Given the description of an element on the screen output the (x, y) to click on. 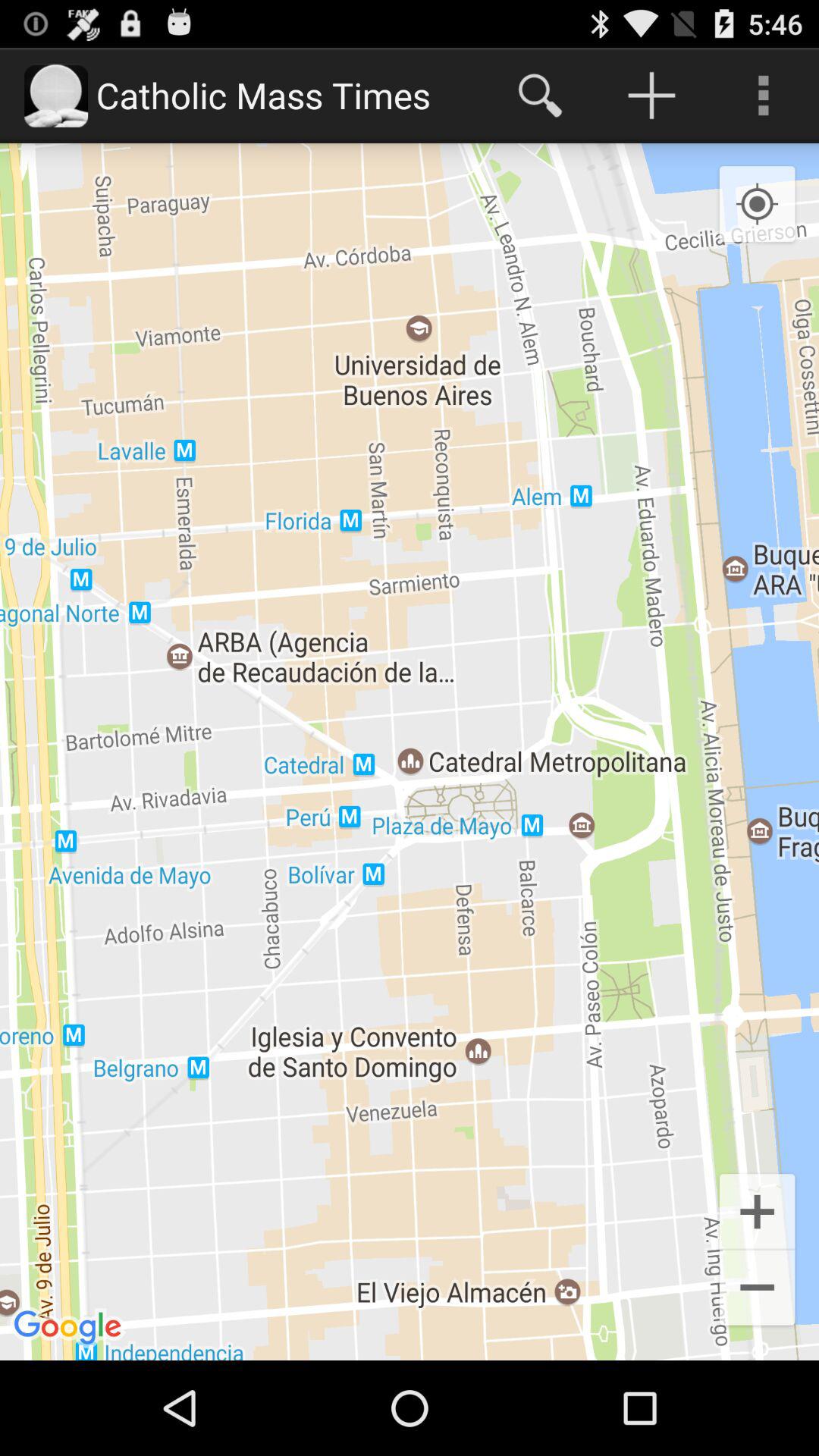
open the icon at the center (409, 751)
